Given the description of an element on the screen output the (x, y) to click on. 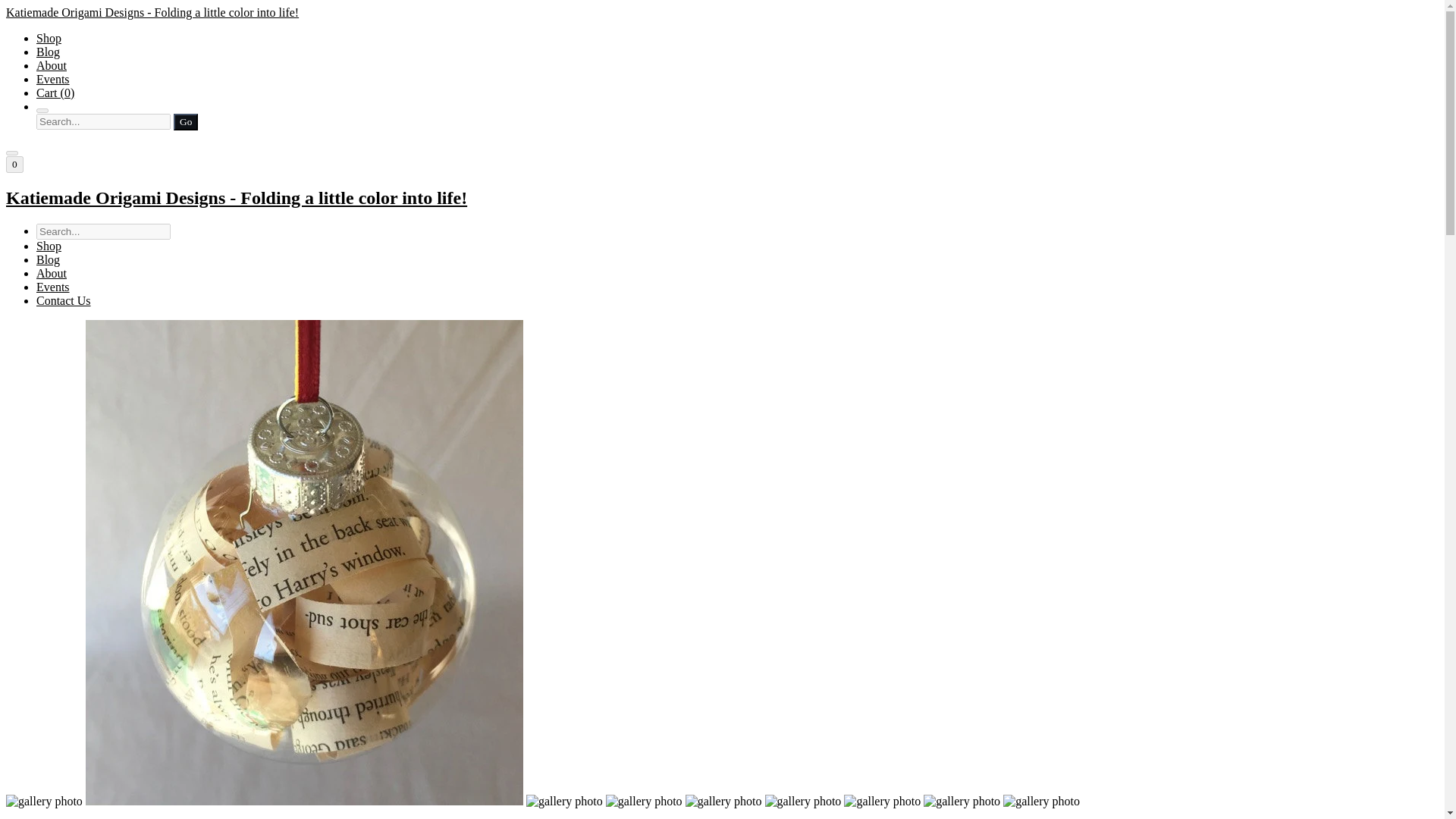
Events (52, 286)
Blog (47, 259)
Blog (47, 51)
Shop (48, 38)
About (51, 65)
Shop (48, 245)
Contact Us (63, 300)
0 (14, 164)
Go (185, 121)
Events (52, 78)
Go (185, 121)
About (51, 273)
